Given the description of an element on the screen output the (x, y) to click on. 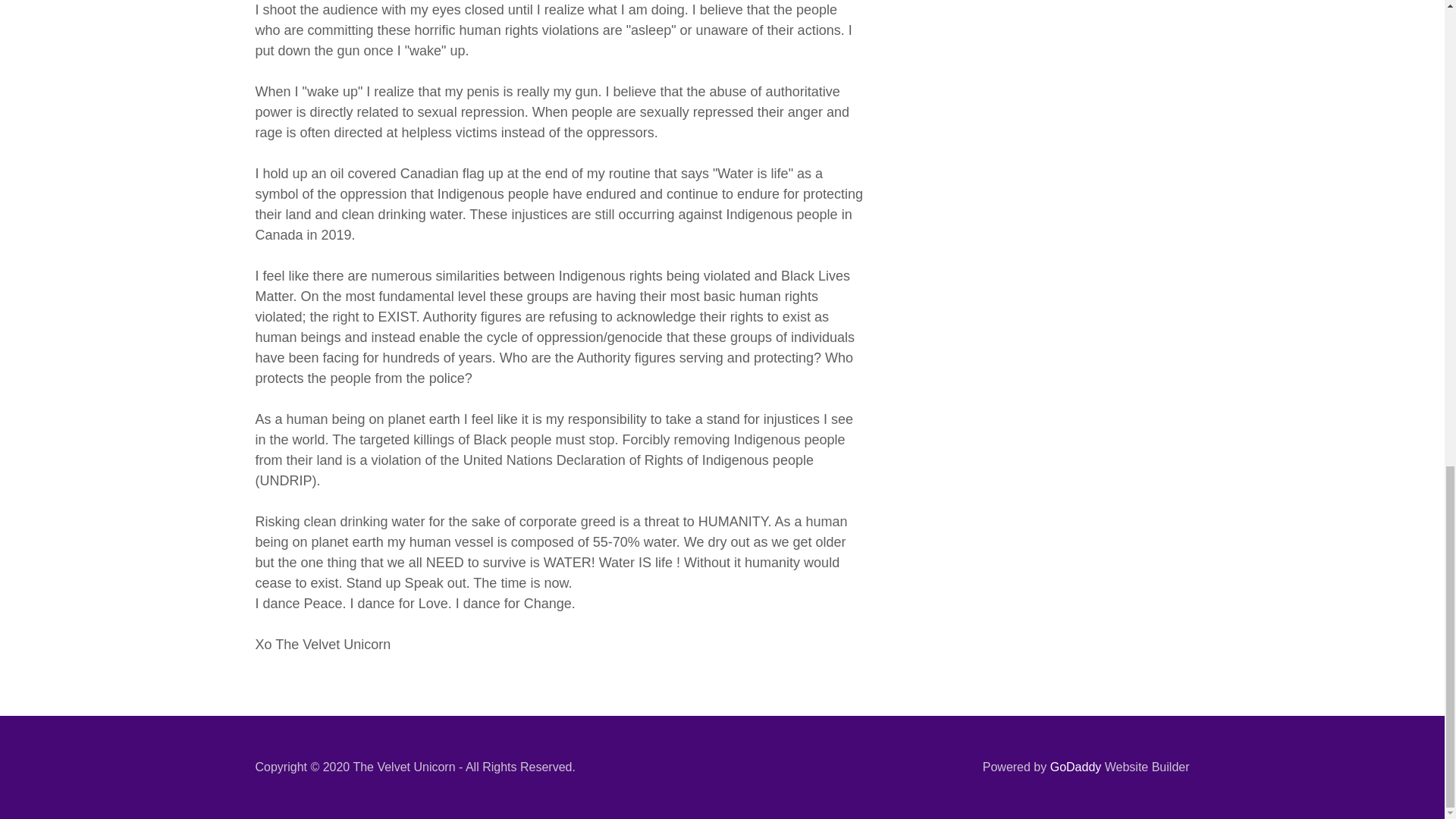
GoDaddy (1075, 766)
